Given the description of an element on the screen output the (x, y) to click on. 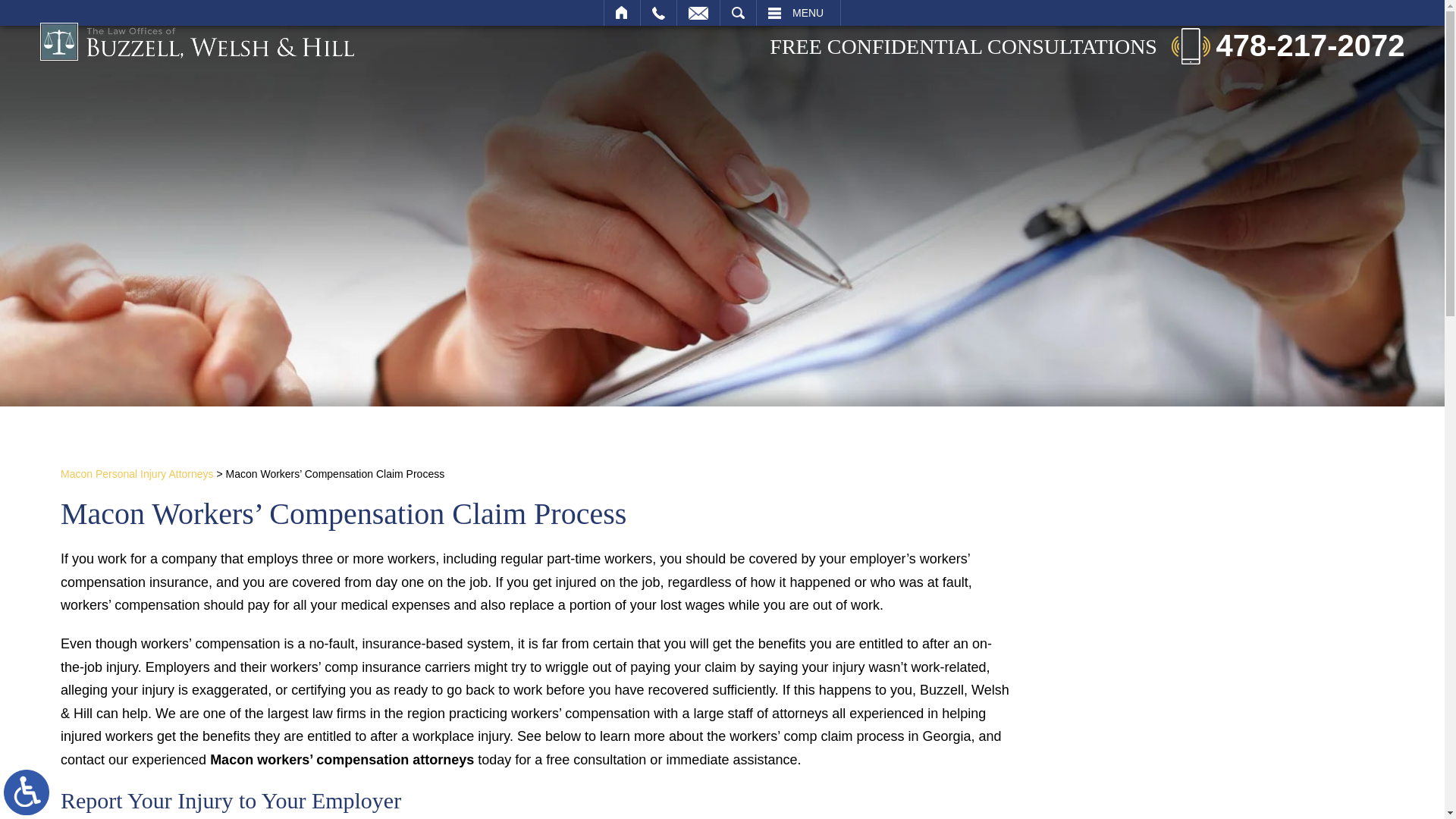
HOME (622, 12)
EMAIL (698, 12)
Switch to ADA Accessible Website (26, 791)
MENU (798, 12)
478-217-2072 (1288, 45)
SEARCH (737, 12)
CALL (658, 12)
